Given the description of an element on the screen output the (x, y) to click on. 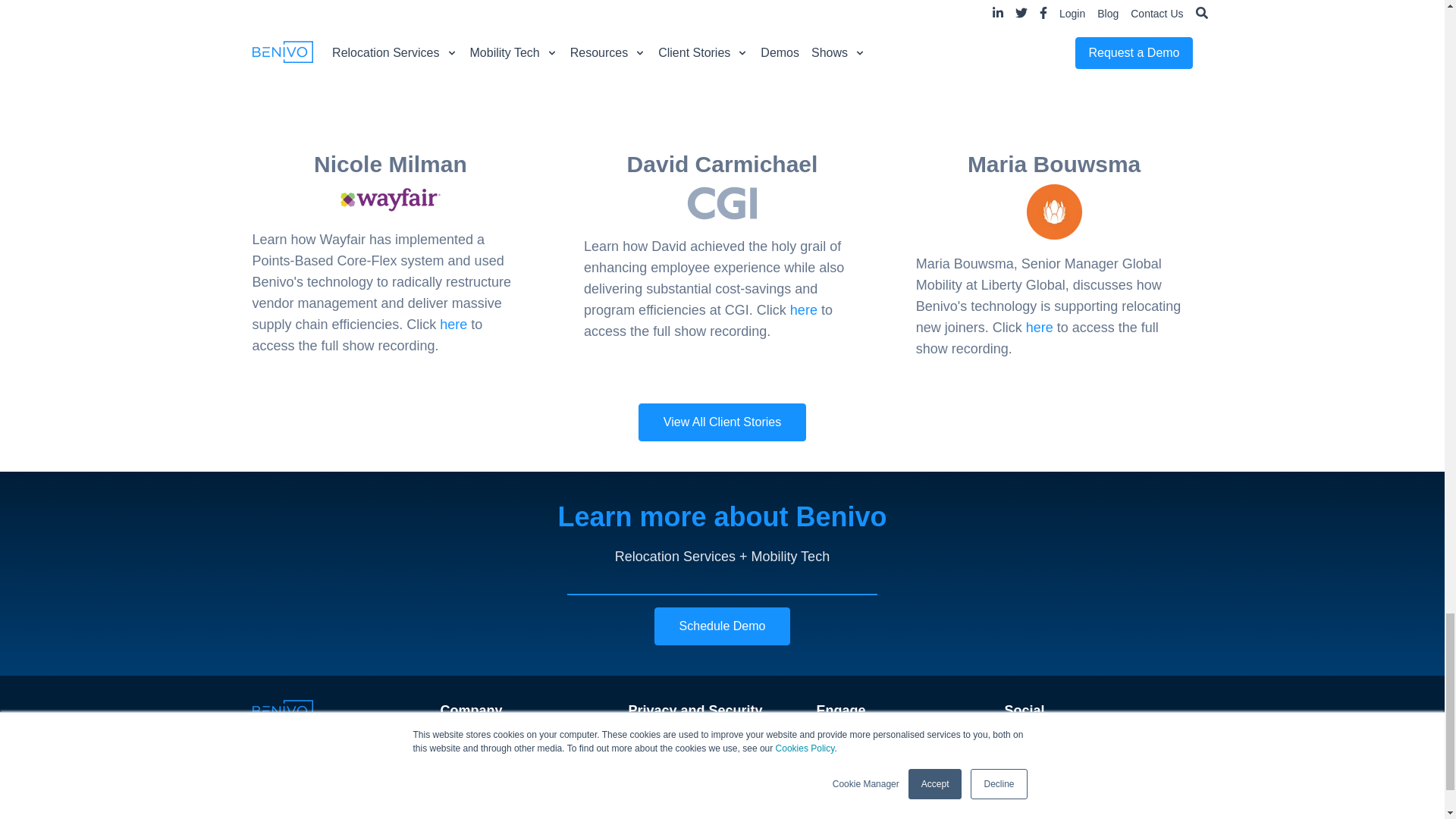
View All Client Stories (722, 422)
Benivo logo (282, 710)
Schedule Demo (721, 626)
